Given the description of an element on the screen output the (x, y) to click on. 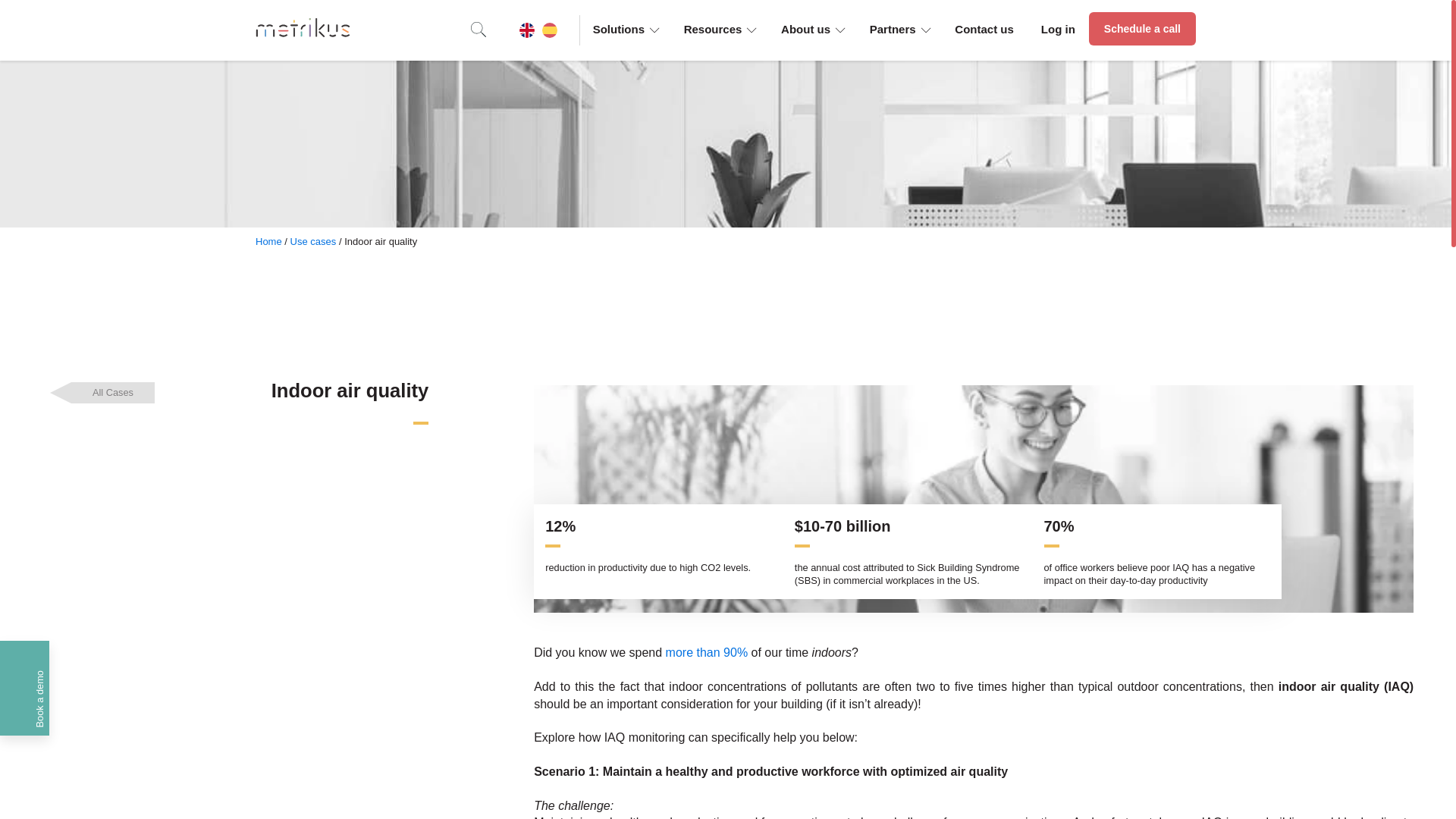
Log in (1058, 29)
All Cases (112, 392)
Schedule a call (1142, 28)
Schedule a call (1142, 28)
Use cases (312, 241)
Home (269, 241)
Contact us (983, 29)
